Given the description of an element on the screen output the (x, y) to click on. 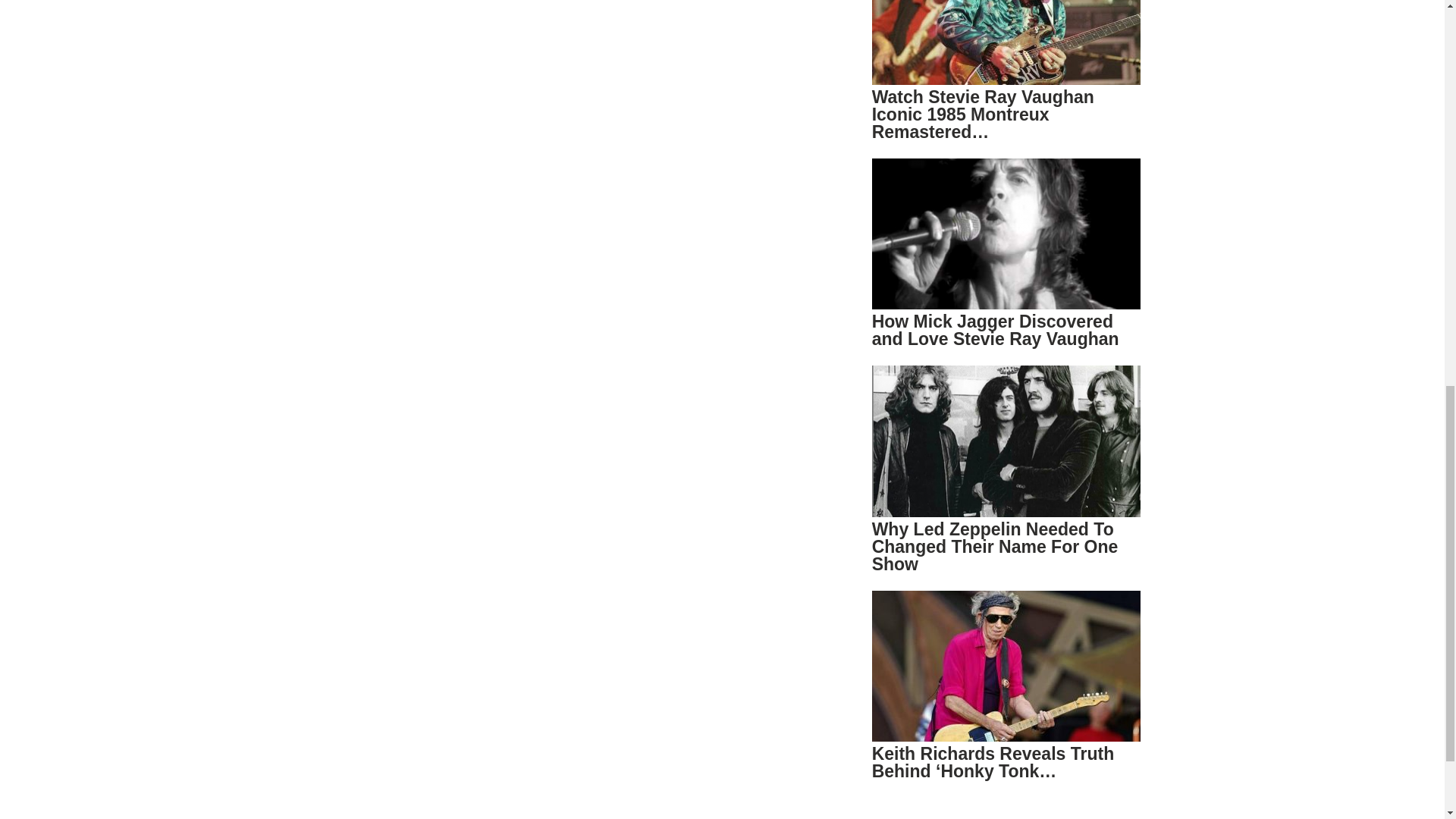
Eric Clapton with Ed Sheeran - I Will Be There (493, 65)
How Mick Jagger Discovered and Love Stevie Ray Vaughan (995, 330)
Why Led Zeppelin Needed To Changed Their Name For One Show (995, 546)
